Given the description of an element on the screen output the (x, y) to click on. 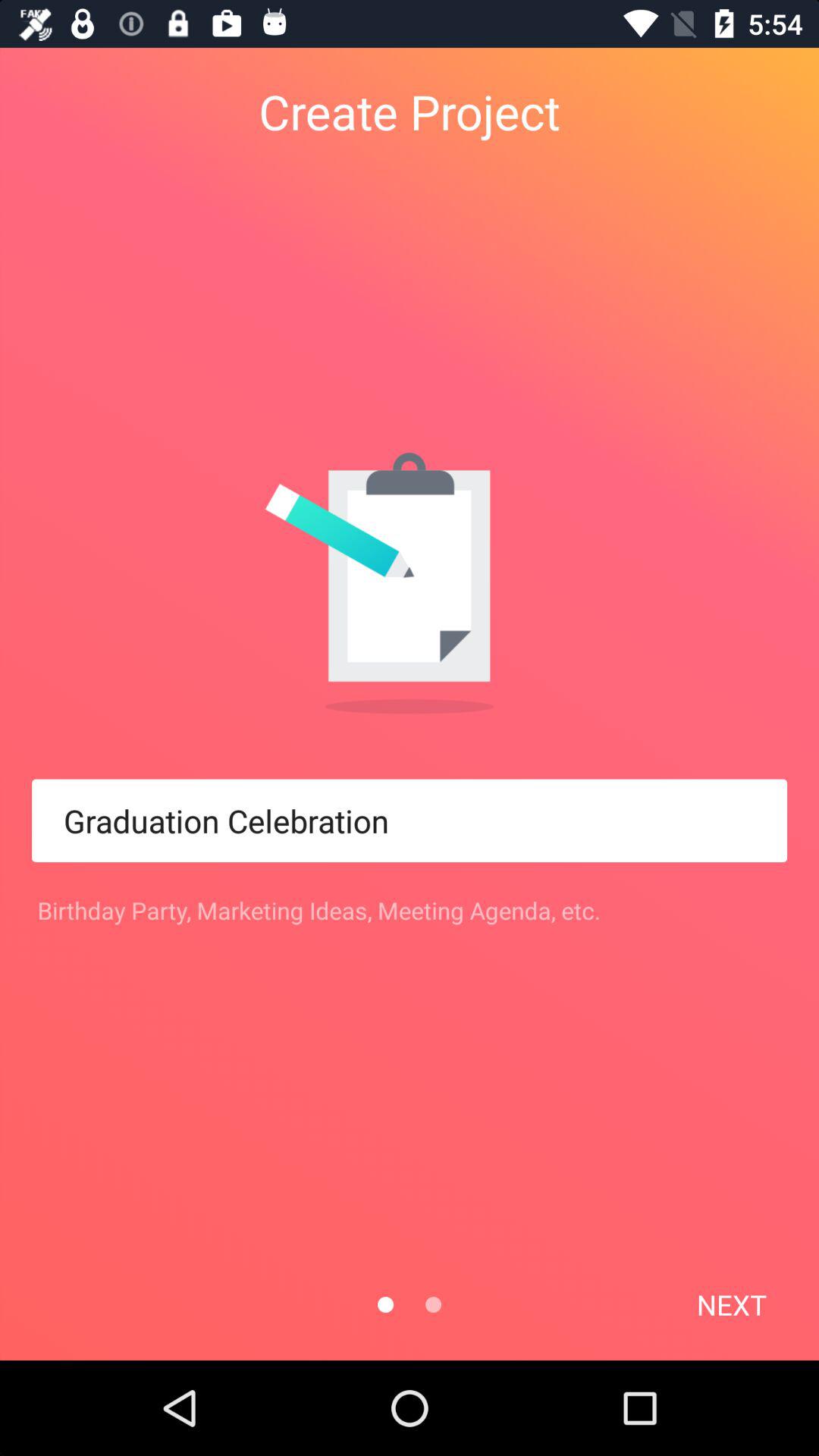
open next at the bottom right corner (731, 1304)
